Given the description of an element on the screen output the (x, y) to click on. 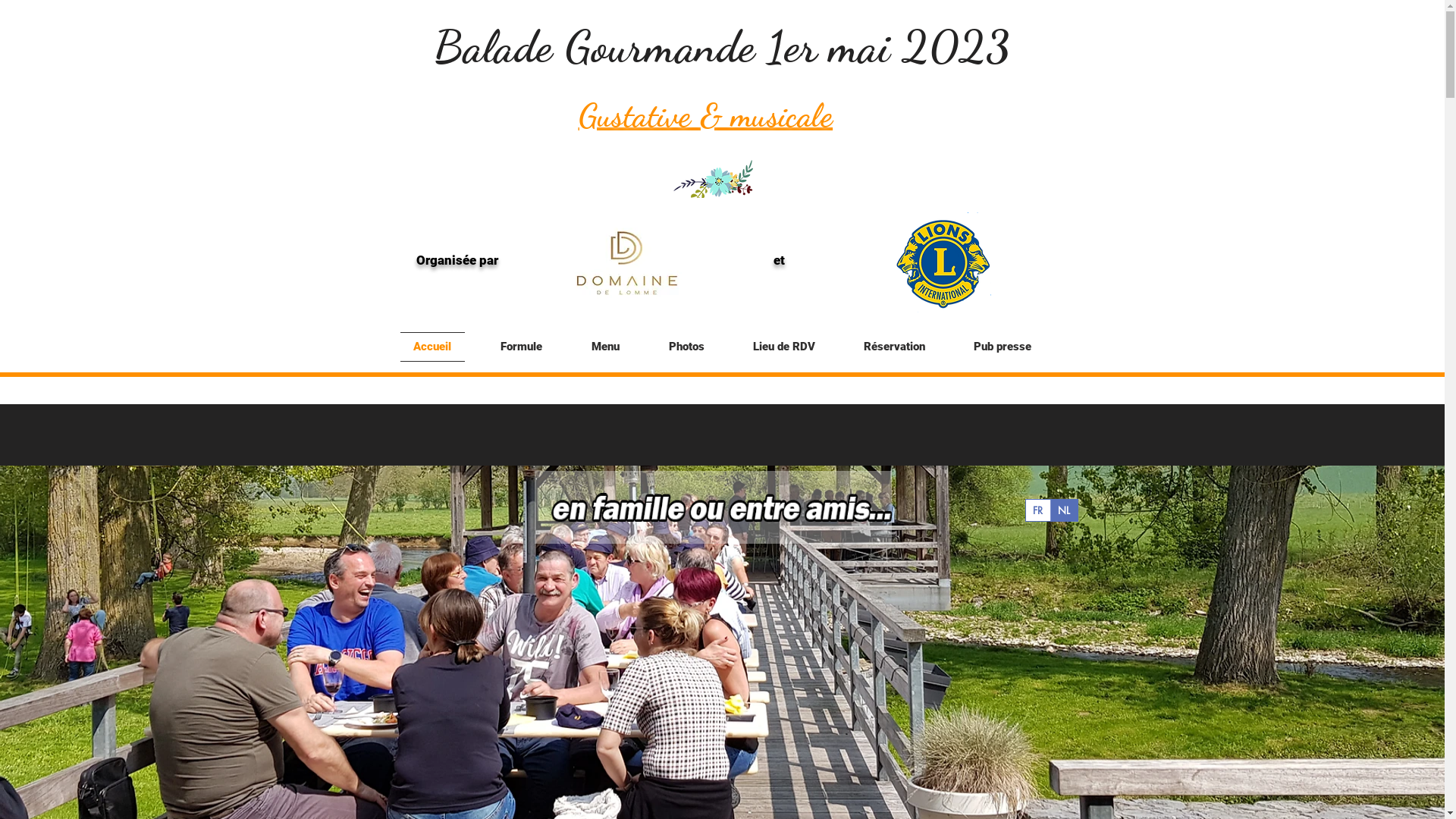
Accueil Element type: text (438, 346)
Menu Element type: text (605, 346)
Lieu de RDV Element type: text (783, 346)
Formule Element type: text (521, 346)
Pub presse Element type: text (996, 346)
Photos Element type: text (686, 346)
FR Element type: text (1037, 509)
NL Element type: text (1062, 509)
